Given the description of an element on the screen output the (x, y) to click on. 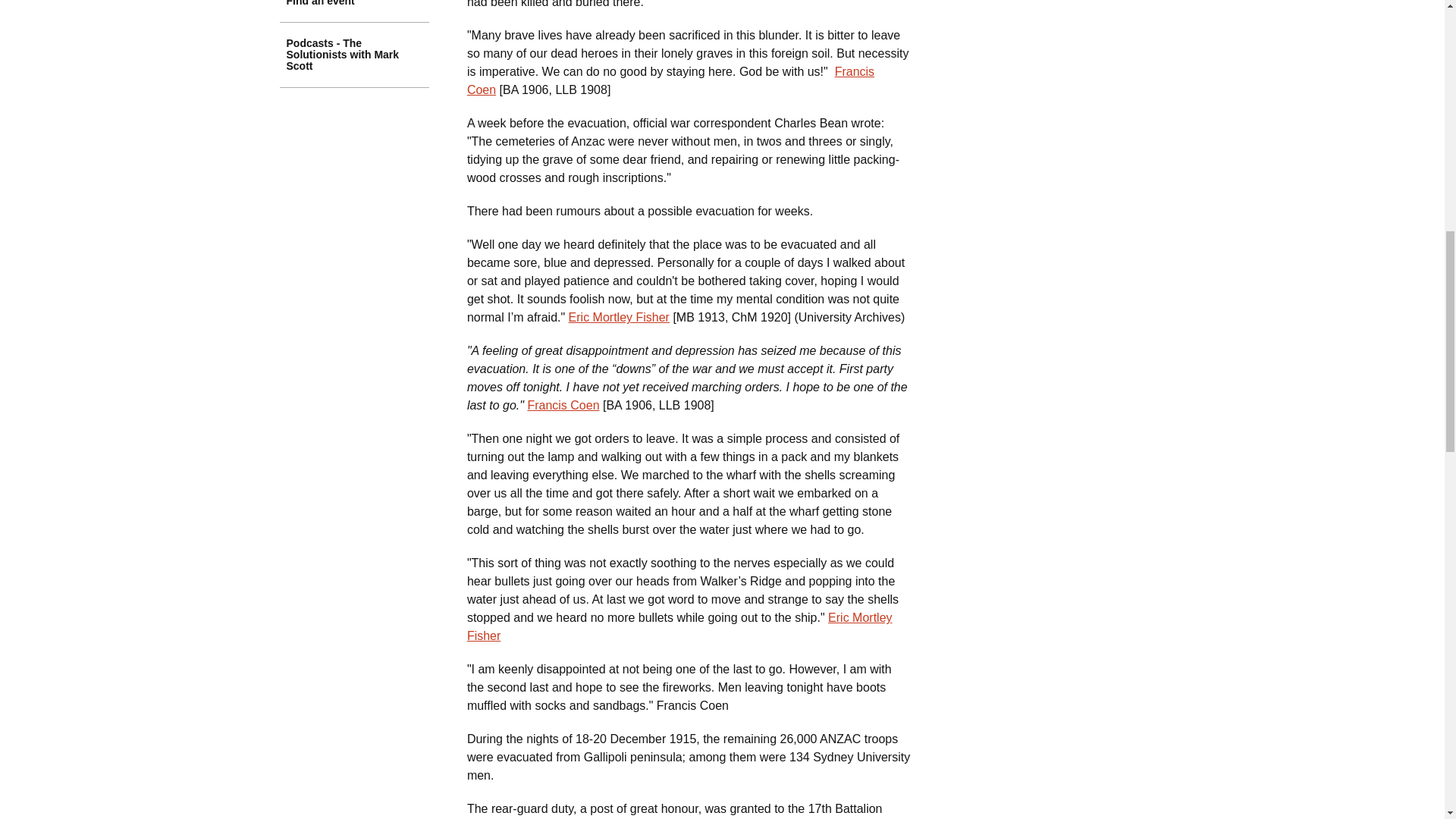
Podcasts - The Solutionists with Mark Scott (354, 54)
Francis Coen (562, 404)
Francis Coen (671, 80)
Eric Mortley Fisher (679, 626)
Eric Mortley Fisher (619, 317)
Find an event (354, 11)
